Given the description of an element on the screen output the (x, y) to click on. 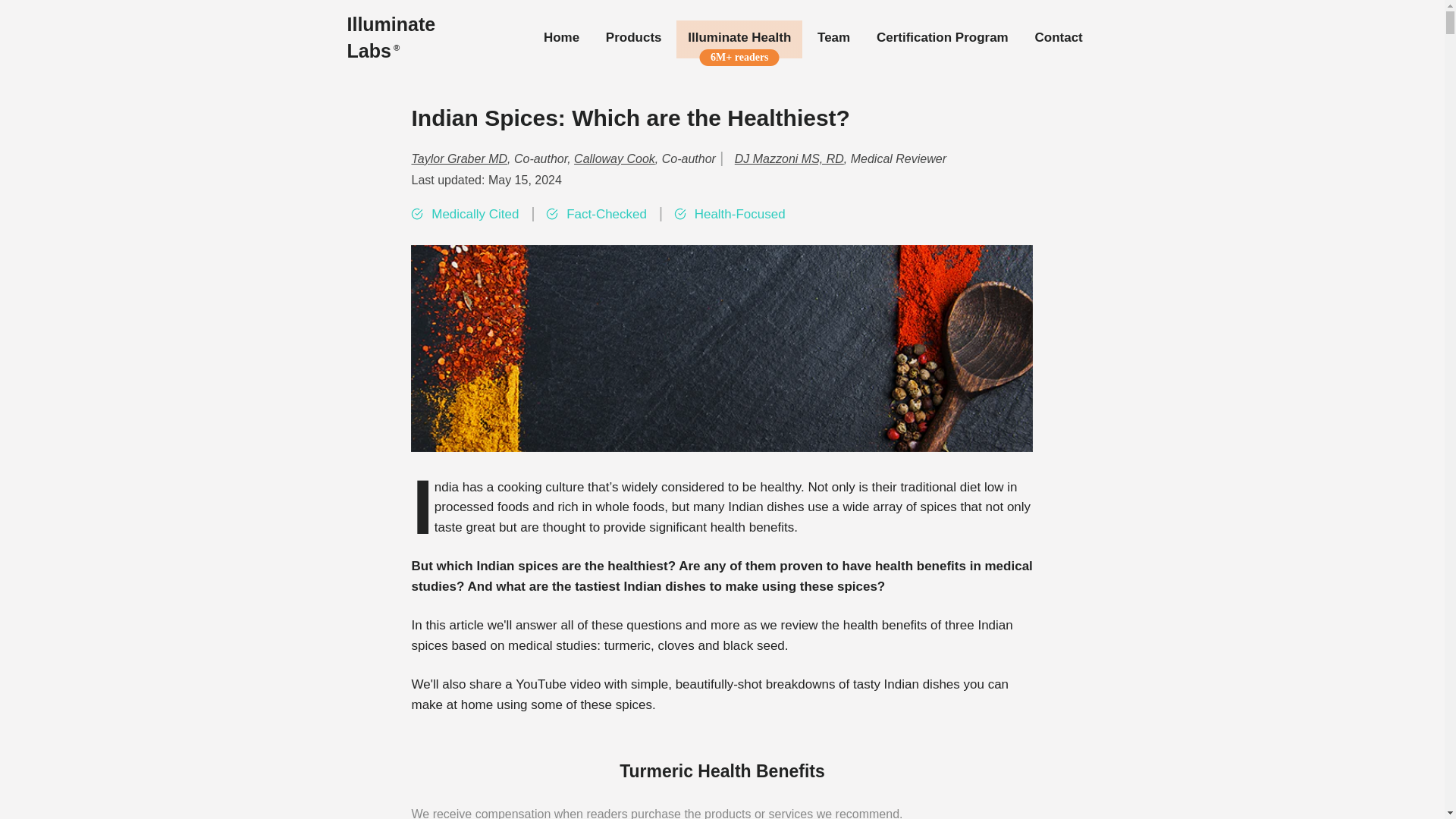
Contact (1058, 37)
Certification Program (942, 37)
Products (633, 37)
Medically Cited (474, 214)
Team (833, 37)
Home (561, 37)
Illuminate Health (739, 37)
Fact-Checked (606, 214)
Health-Focused (740, 214)
